Given the description of an element on the screen output the (x, y) to click on. 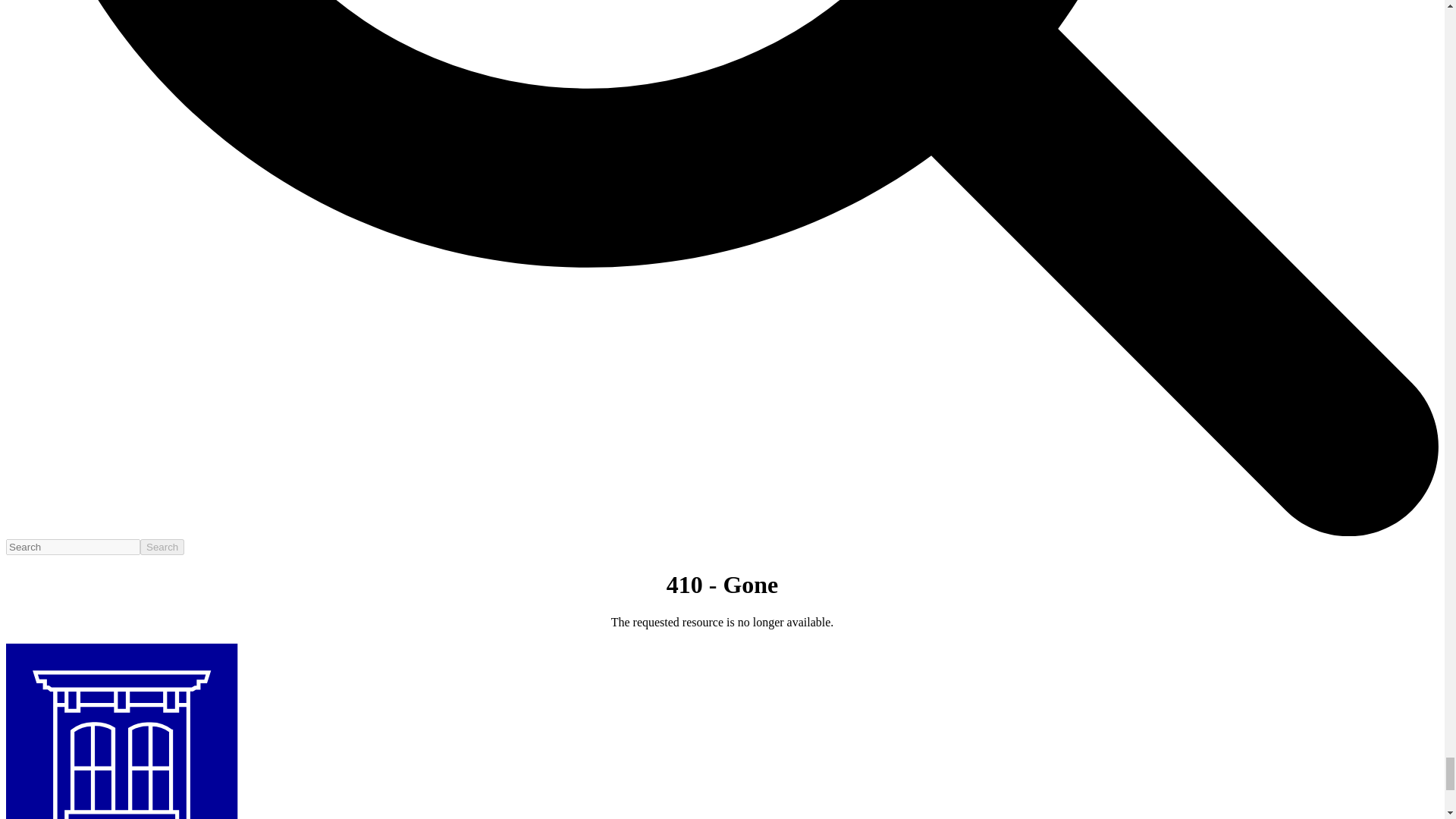
Search (161, 546)
